Given the description of an element on the screen output the (x, y) to click on. 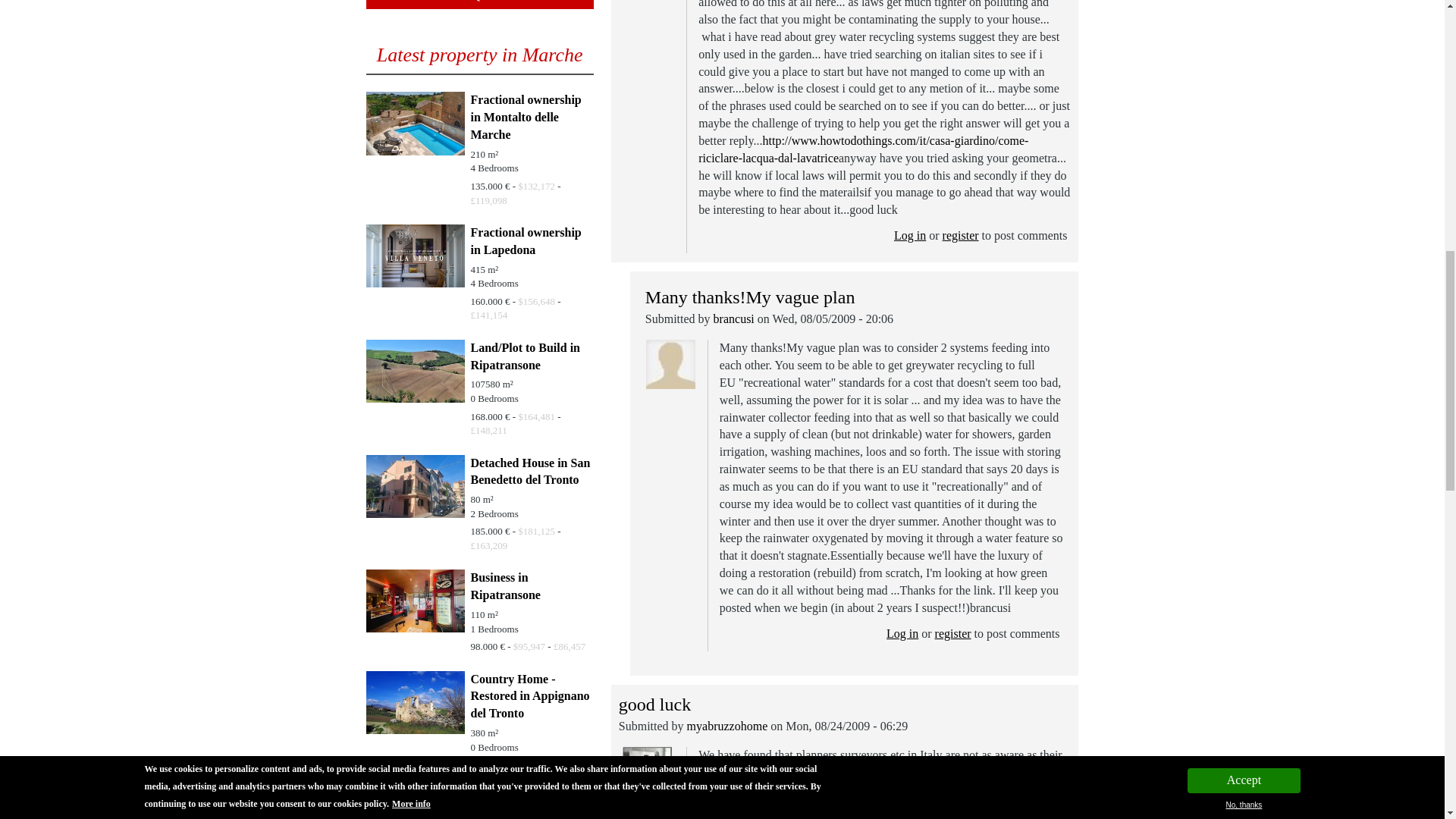
View user profile. (727, 725)
View user profile. (733, 318)
brancusi Image (670, 364)
